Given the description of an element on the screen output the (x, y) to click on. 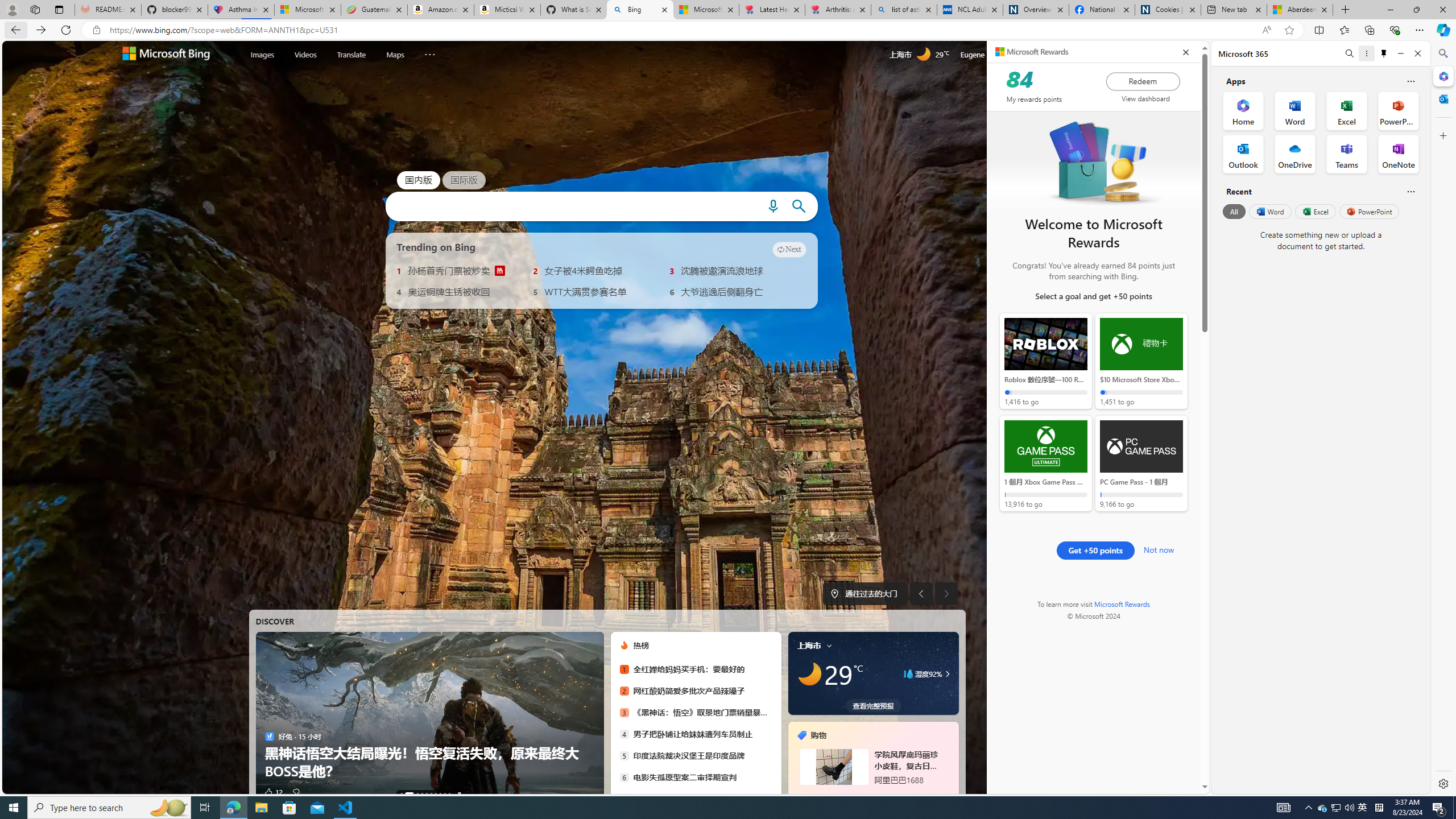
Microsoft Rewards (1122, 603)
PowerPoint (1369, 210)
tab-8 (892, 795)
Home Office App (1243, 110)
Teams Office App (1346, 154)
Next (788, 248)
